Given the description of an element on the screen output the (x, y) to click on. 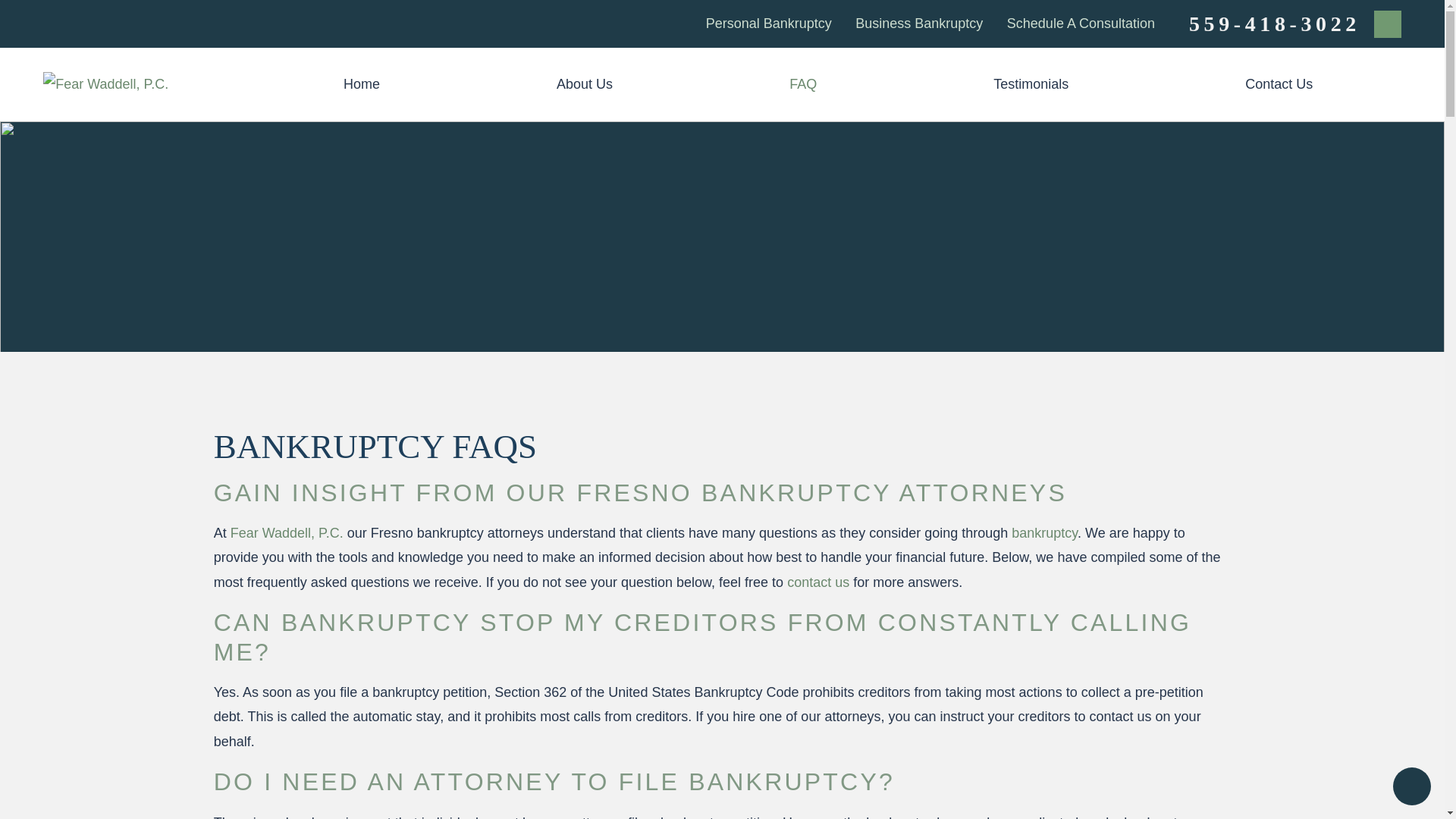
contact us (817, 581)
Open the accessibility options menu (1412, 786)
Testimonials (1031, 84)
559-418-3022 (1274, 23)
Schedule A Consultation (1080, 23)
Fear Waddell, P.C. (105, 84)
Contact Us (1278, 84)
Personal Bankruptcy (768, 23)
FAQ (803, 84)
Business Bankruptcy (919, 23)
